Given the description of an element on the screen output the (x, y) to click on. 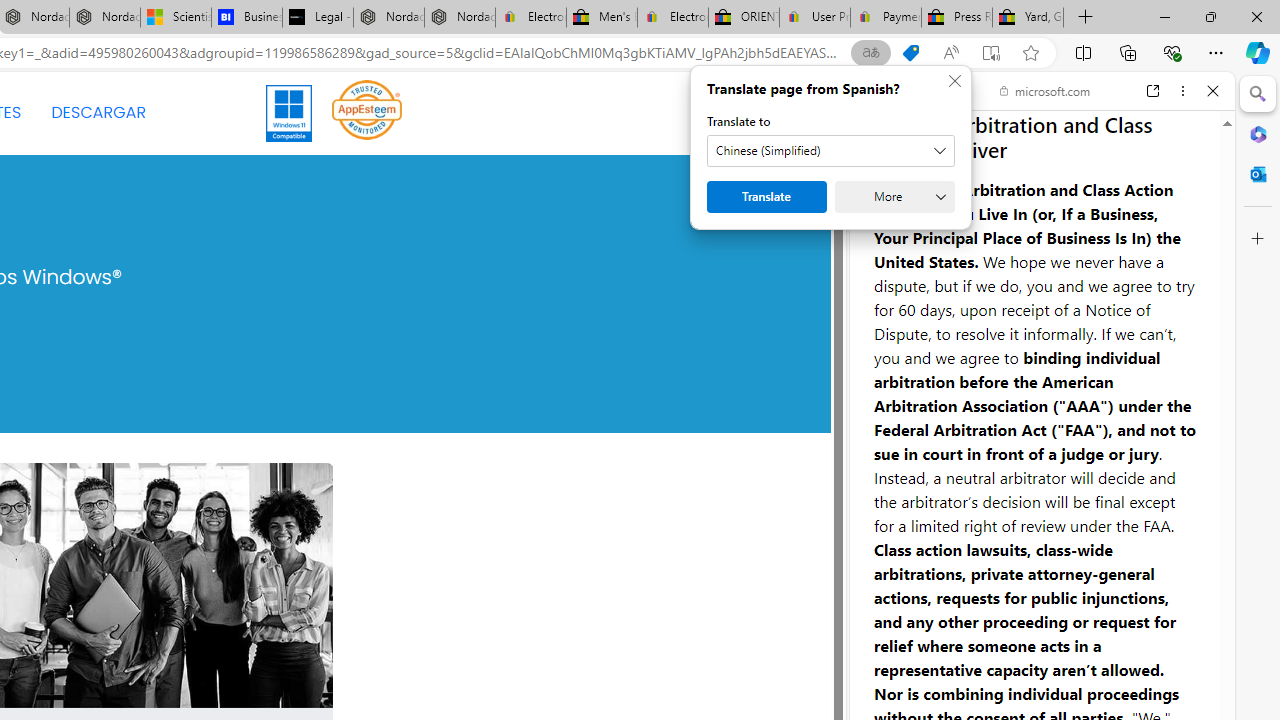
DESCARGAR (98, 112)
Windows 11 (289, 112)
DESCARGAR (98, 112)
Press Room - eBay Inc. (956, 17)
Nordace - Summer Adventures 2024 (388, 17)
App Esteem (367, 109)
Translate (766, 196)
App Esteem (367, 112)
